Given the description of an element on the screen output the (x, y) to click on. 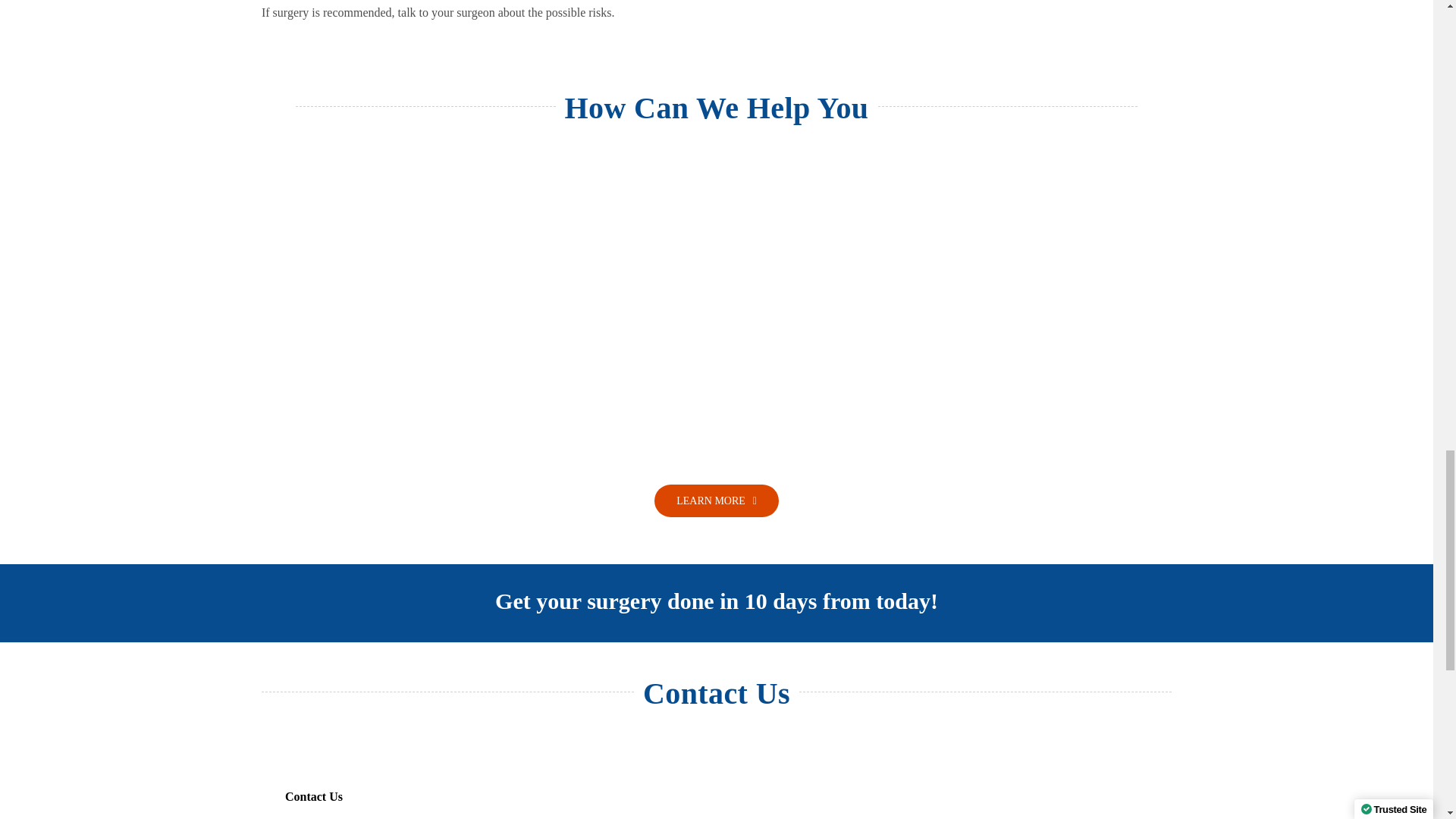
LEARN MORE (715, 500)
